Given the description of an element on the screen output the (x, y) to click on. 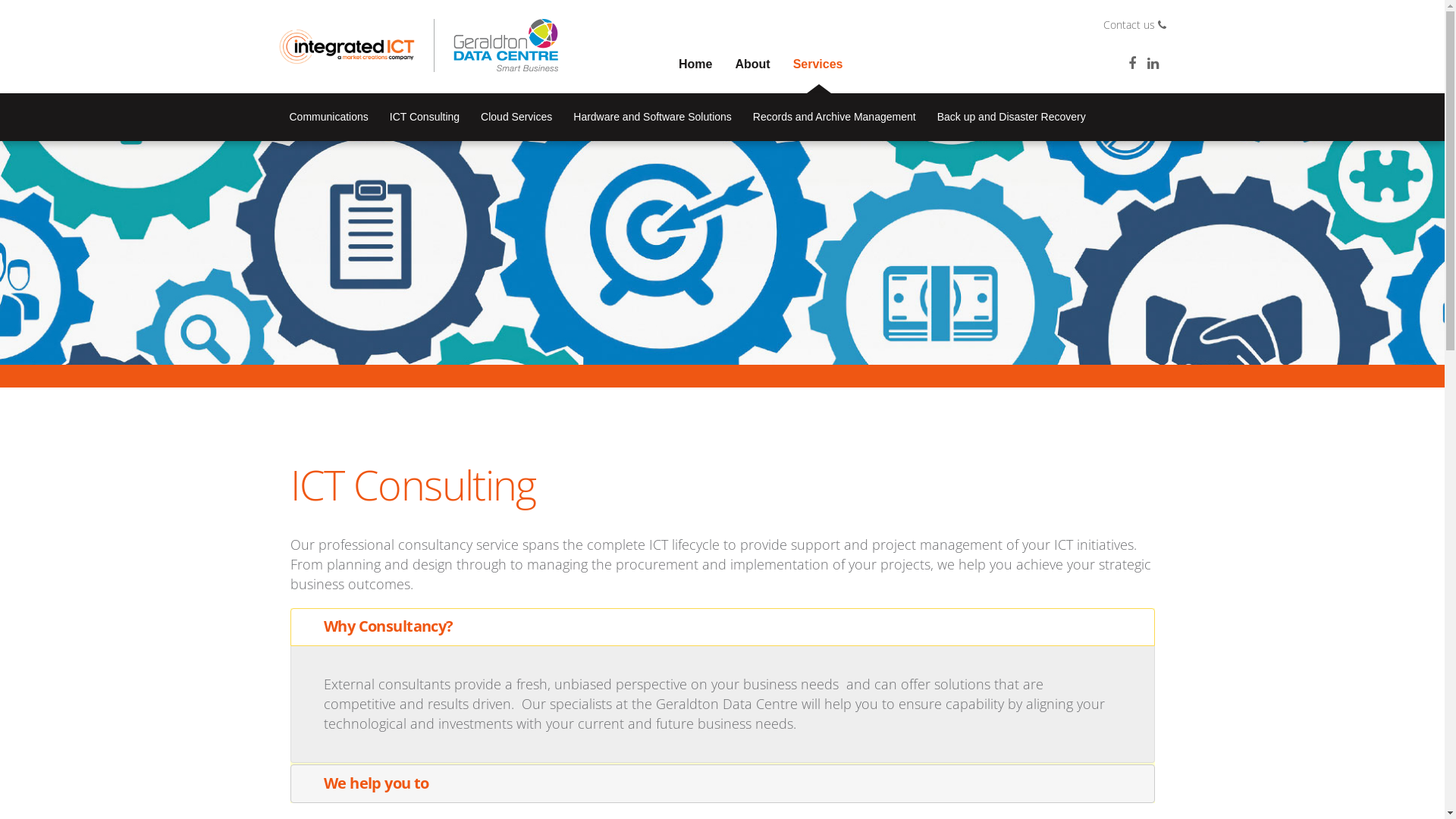
ICT Consulting Element type: text (424, 117)
LinkedIn Element type: hover (1151, 62)
About Element type: text (752, 63)
Cloud Services Element type: text (516, 117)
Contact us Element type: text (908, 24)
Facebook Element type: hover (1131, 62)
Hardware and Software Solutions Element type: text (652, 117)
Home Element type: text (695, 63)
Records and Archive Management Element type: text (834, 117)
Services Element type: text (817, 63)
Communications Element type: text (329, 117)
Back up and Disaster Recovery Element type: text (1011, 117)
